Given the description of an element on the screen output the (x, y) to click on. 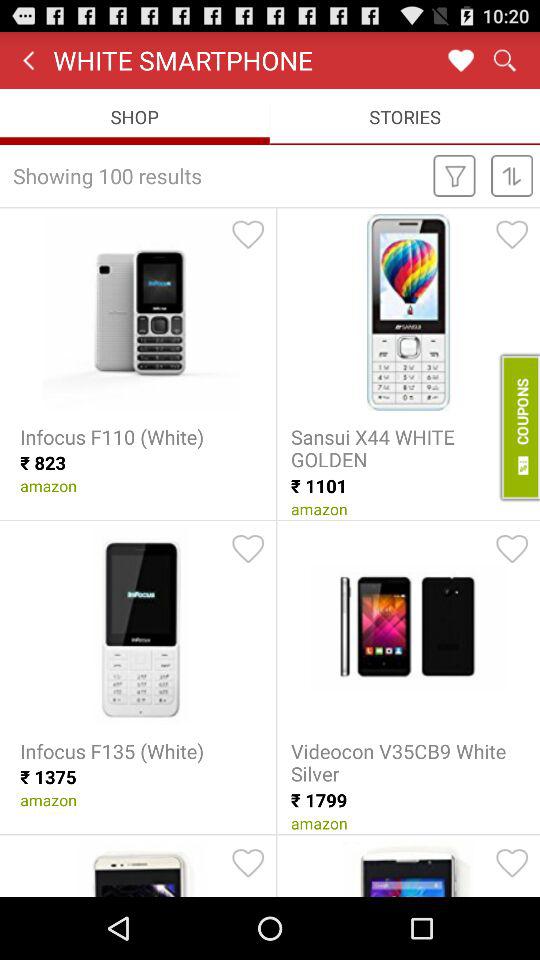
view favorites (460, 60)
